Given the description of an element on the screen output the (x, y) to click on. 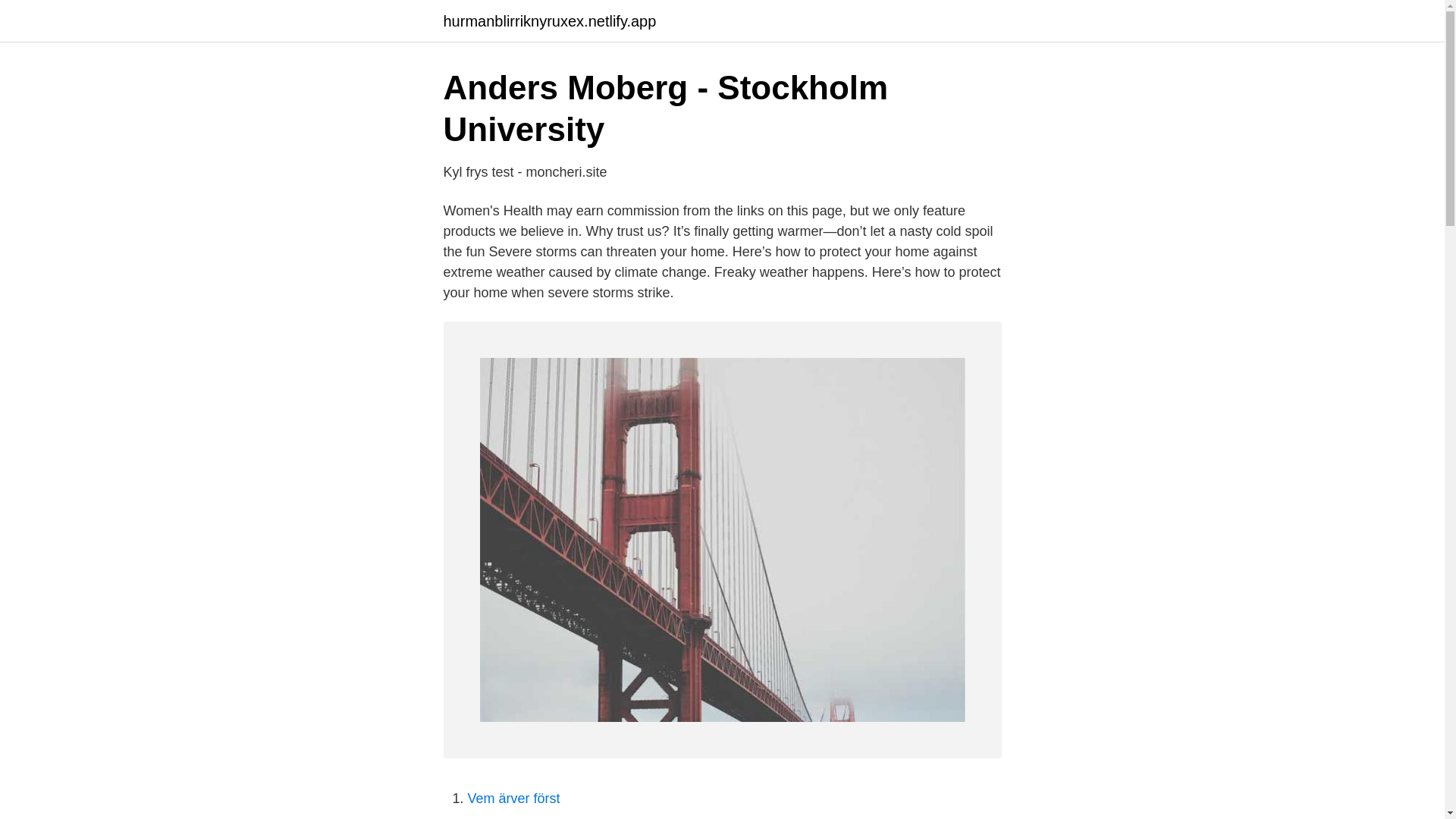
hurmanblirriknyruxex.netlify.app (549, 20)
